Given the description of an element on the screen output the (x, y) to click on. 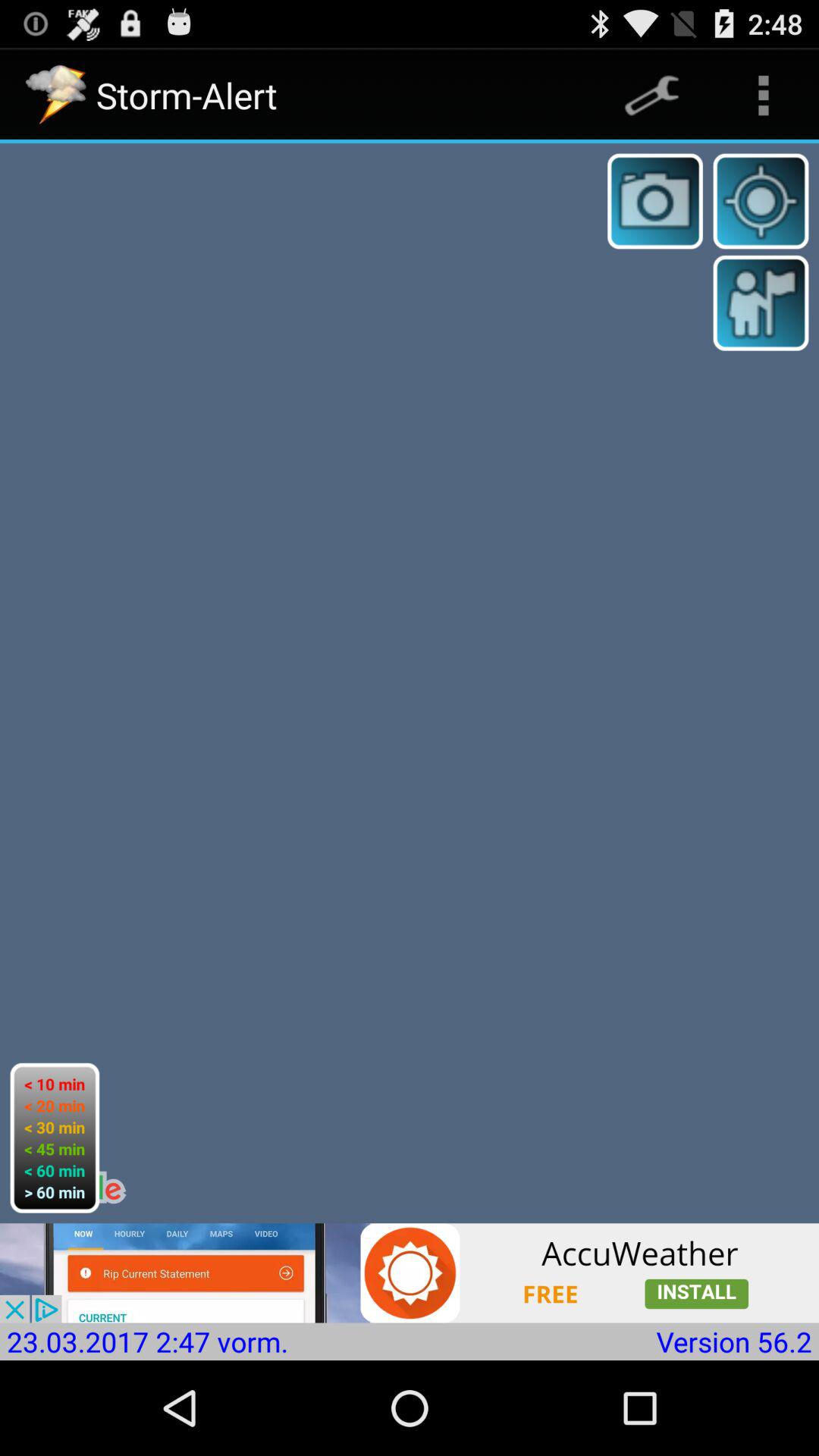
add for accuweather (409, 1272)
